Given the description of an element on the screen output the (x, y) to click on. 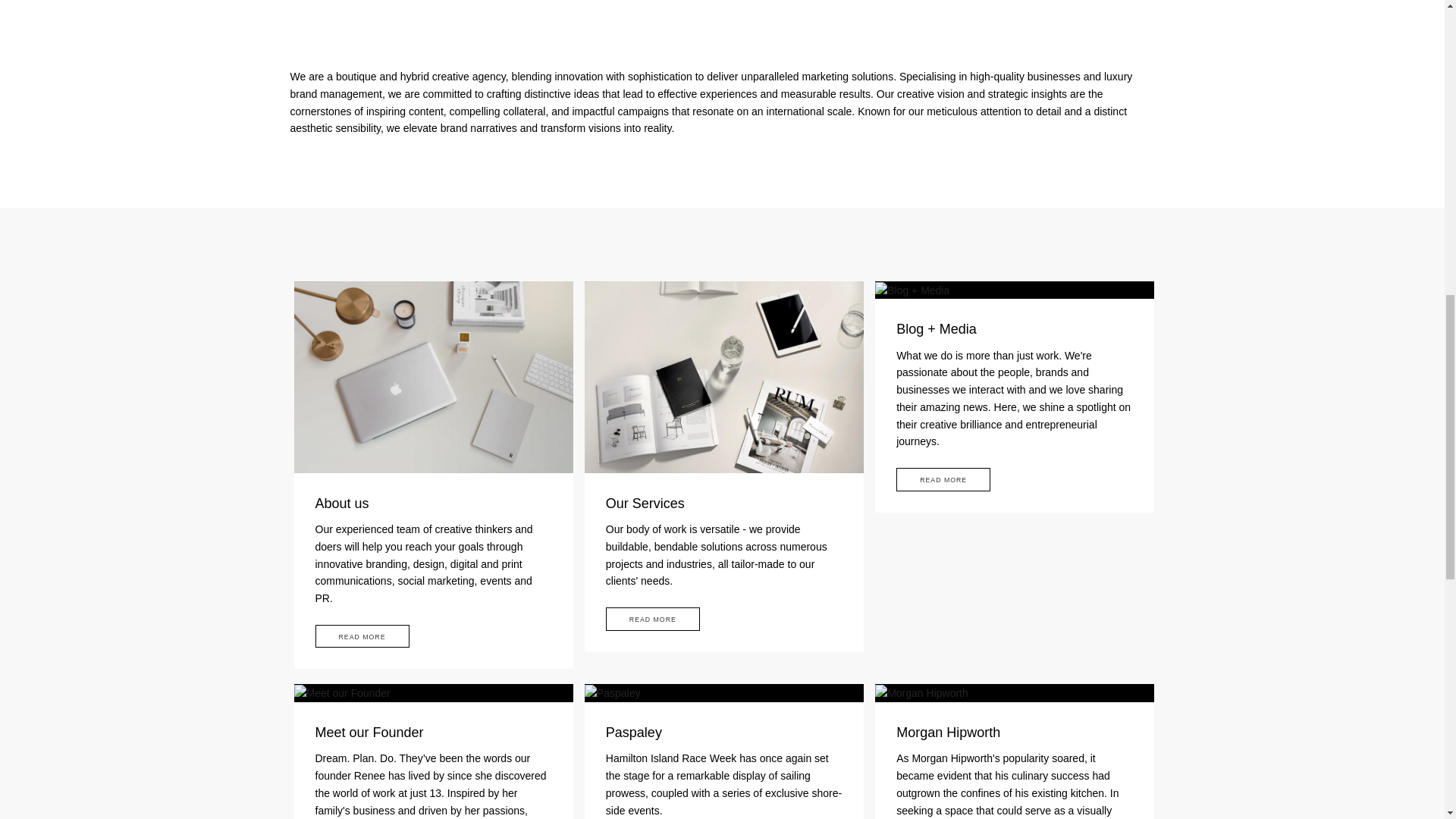
READ MORE (652, 618)
READ MORE (362, 636)
READ MORE (943, 479)
